Given the description of an element on the screen output the (x, y) to click on. 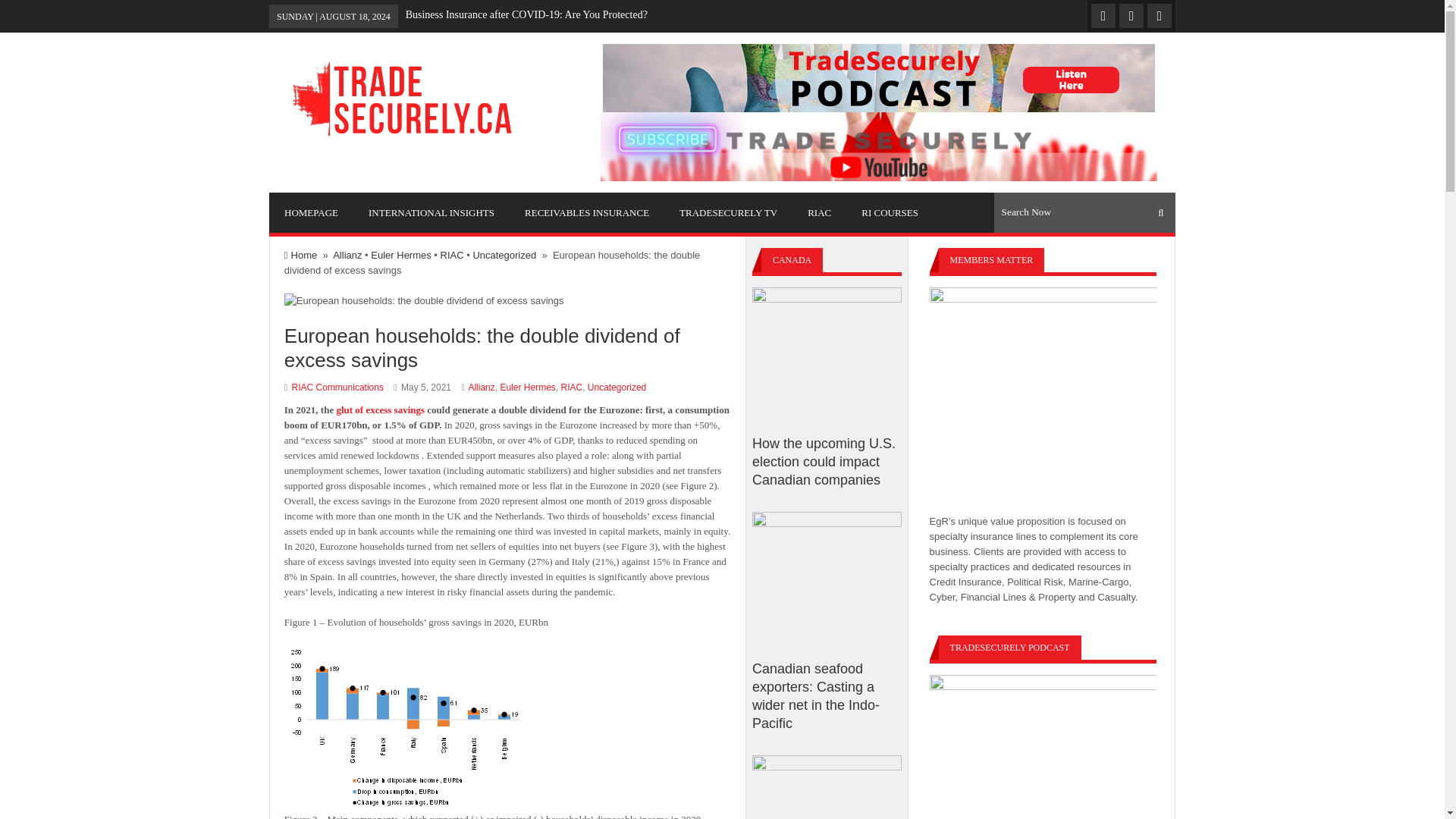
RIAC Communications (338, 387)
excess savings (395, 409)
RIAC (452, 255)
European households: the double dividend of excess savings (506, 347)
Home (300, 255)
RIAC (818, 212)
Allianz (481, 387)
Business Insurance after COVID-19: Are You Protected? (526, 14)
RIAC (571, 387)
Uncategorized (617, 387)
